Given the description of an element on the screen output the (x, y) to click on. 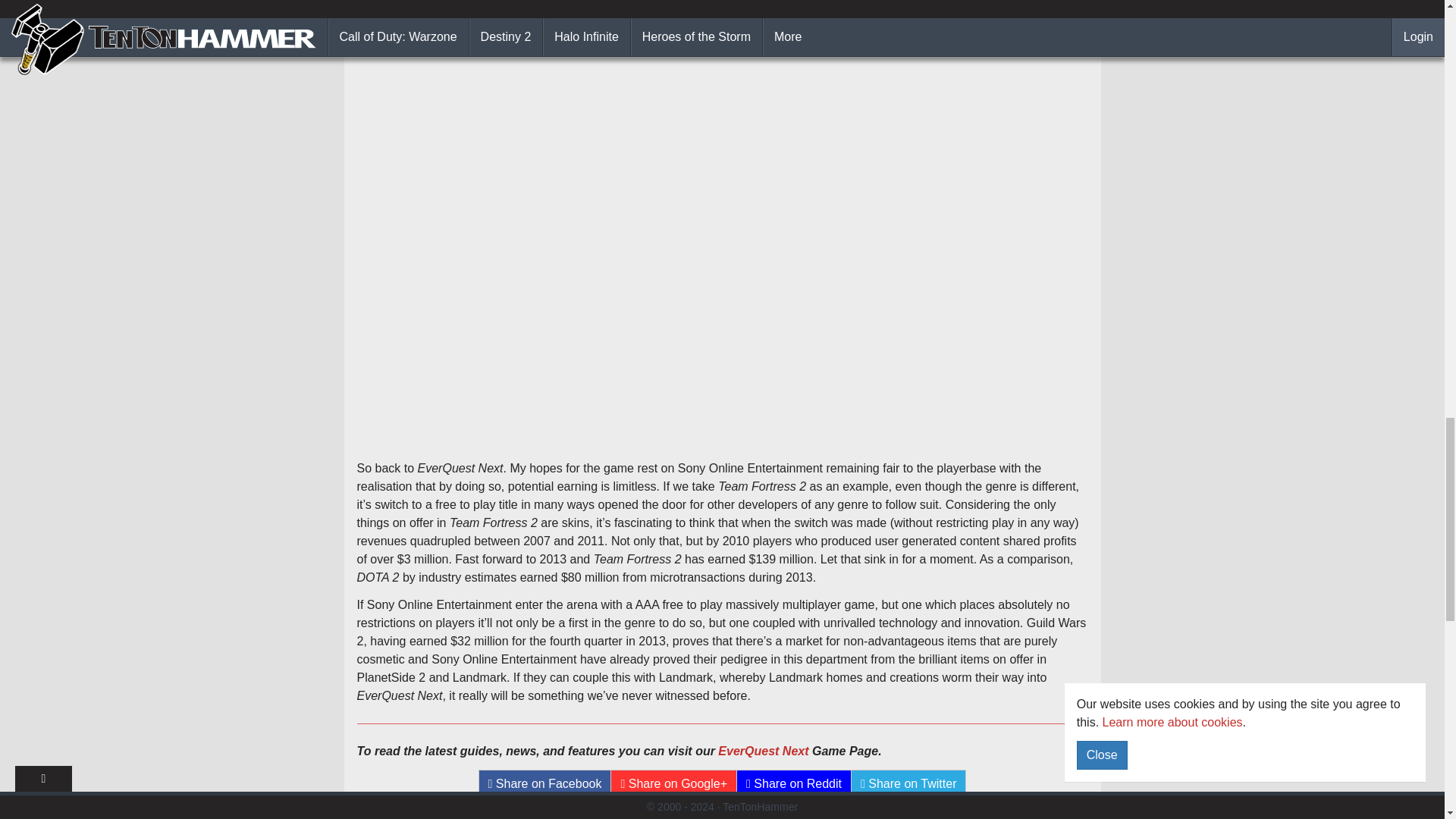
Share on Facebook (545, 783)
Share on Twitter (908, 783)
Share on Reddit (793, 783)
EverQuest Next (762, 750)
